Given the description of an element on the screen output the (x, y) to click on. 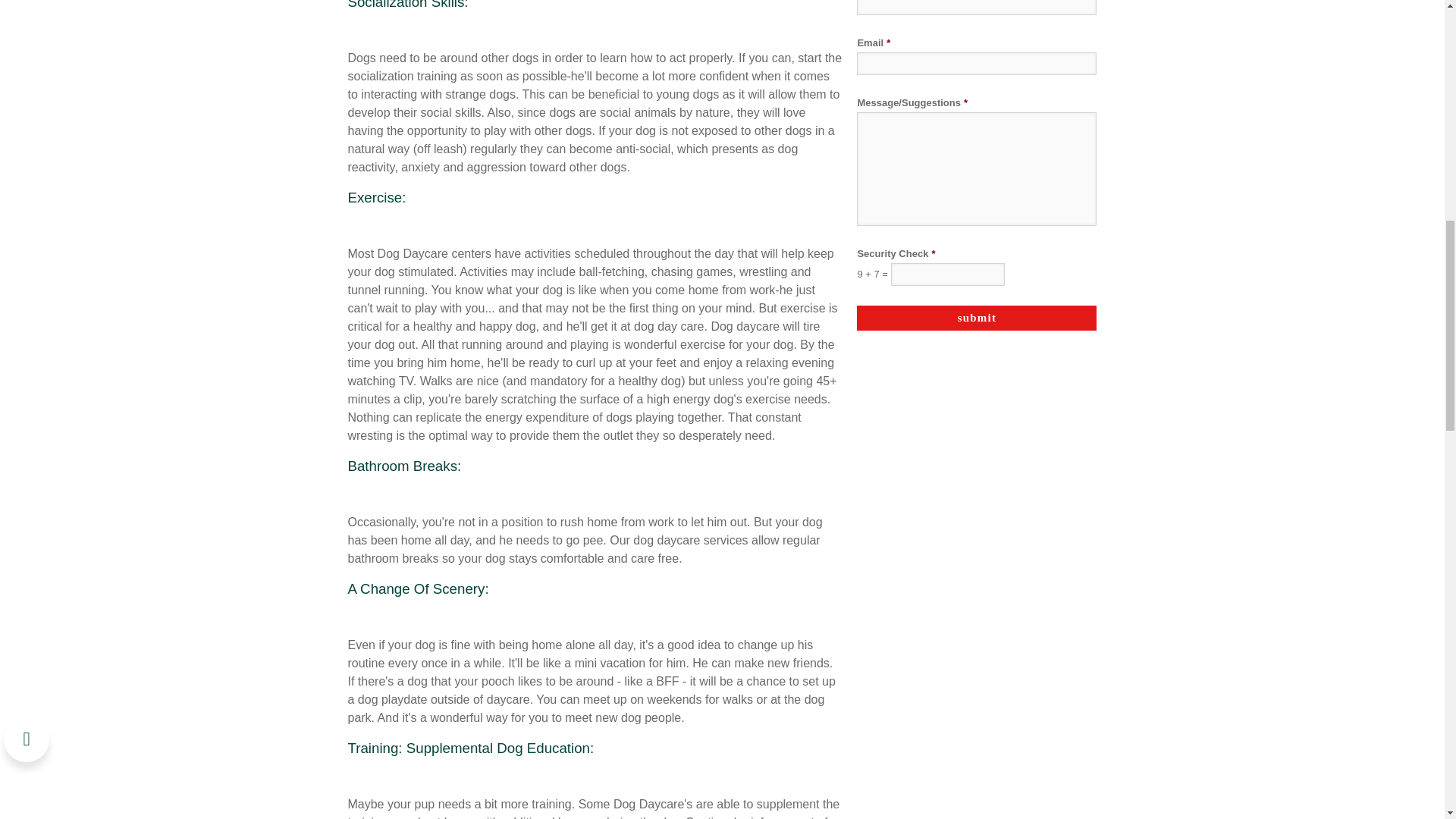
Submit (976, 317)
